Given the description of an element on the screen output the (x, y) to click on. 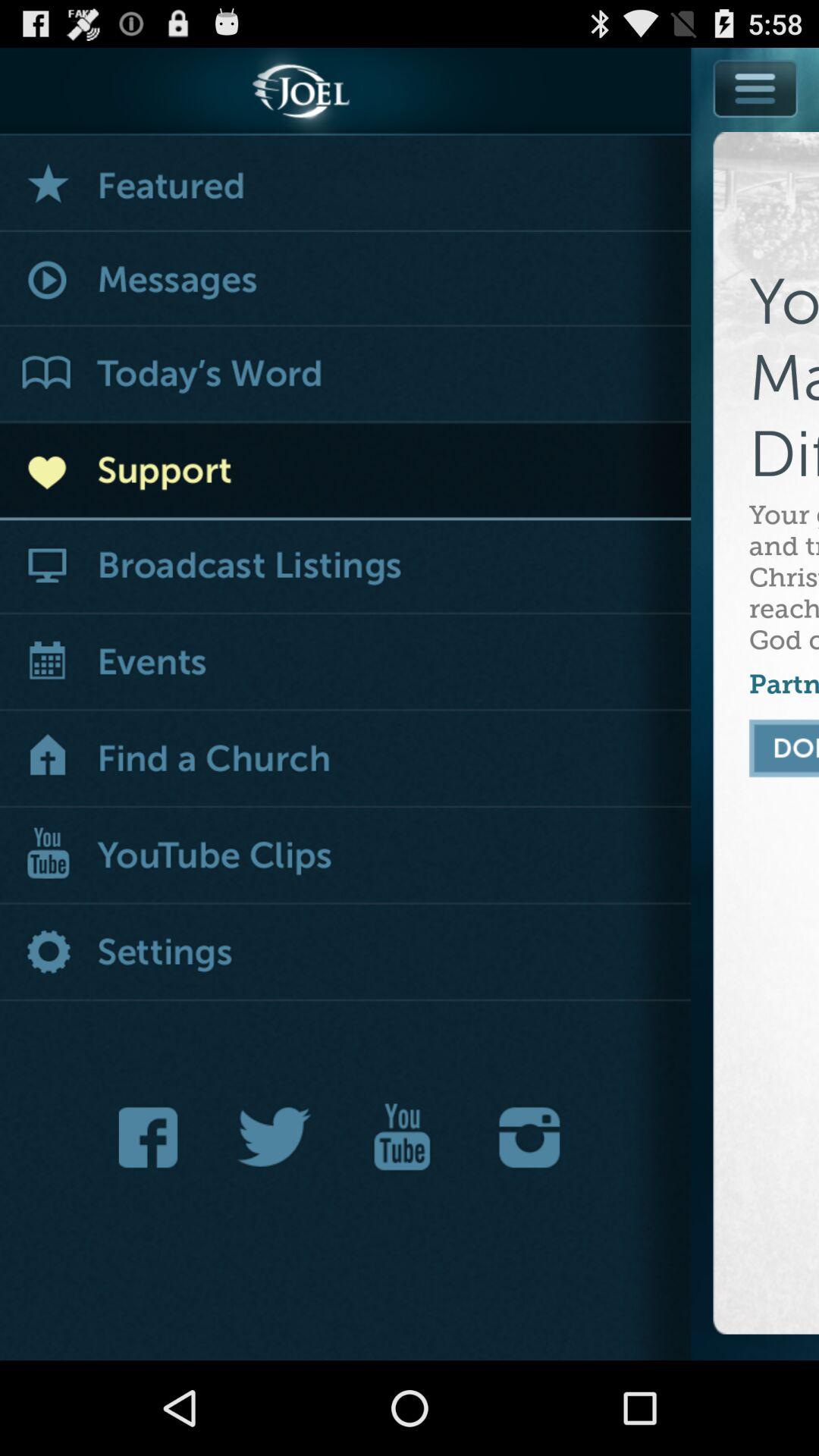
search for a church (345, 760)
